Given the description of an element on the screen output the (x, y) to click on. 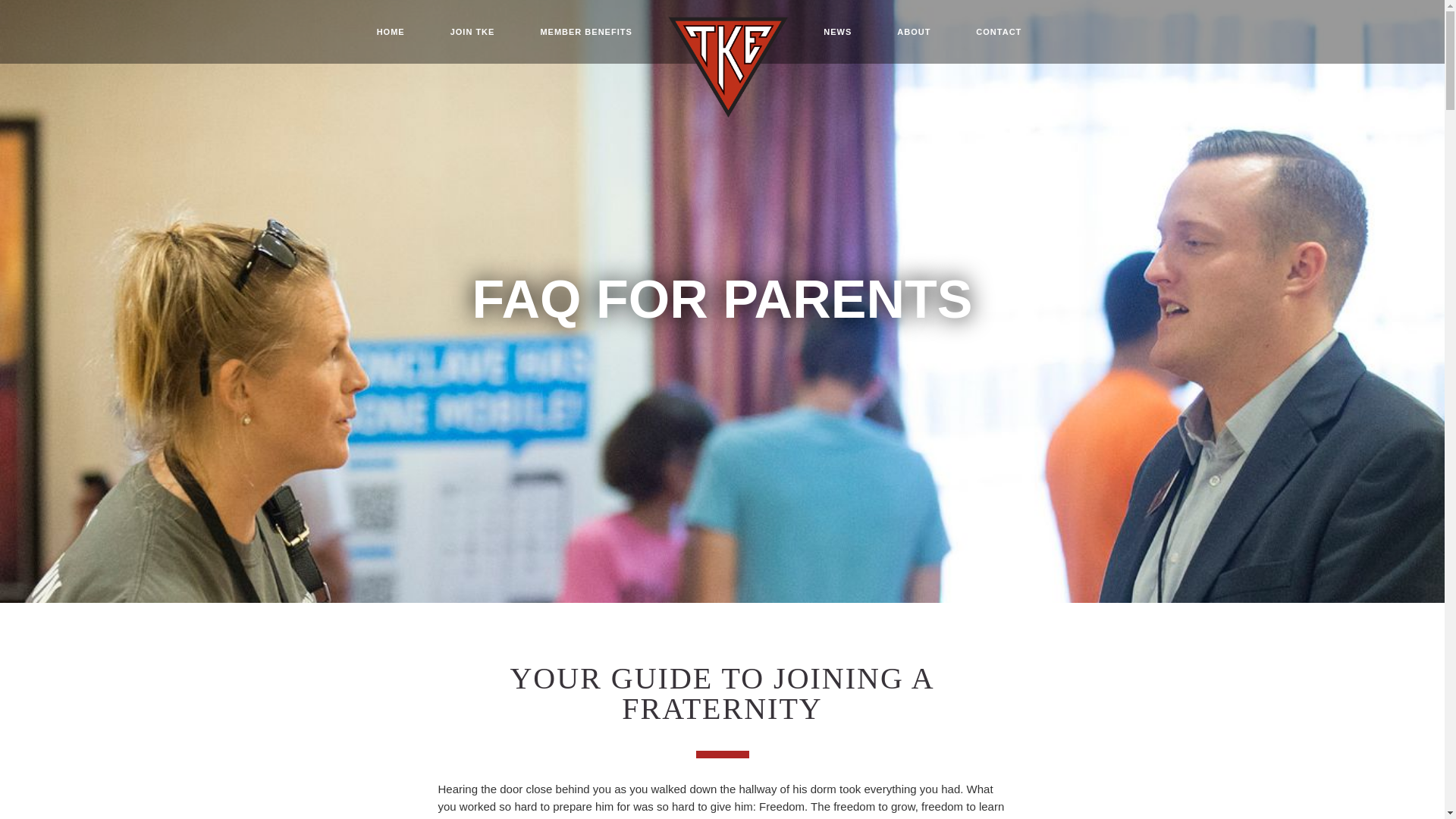
NEWS (837, 31)
CONTACT (998, 31)
ABOUT (914, 31)
JOIN TKE (473, 31)
MEMBER BENEFITS (584, 31)
CONTACT (998, 31)
HOME (390, 31)
HOME (390, 31)
